Given the description of an element on the screen output the (x, y) to click on. 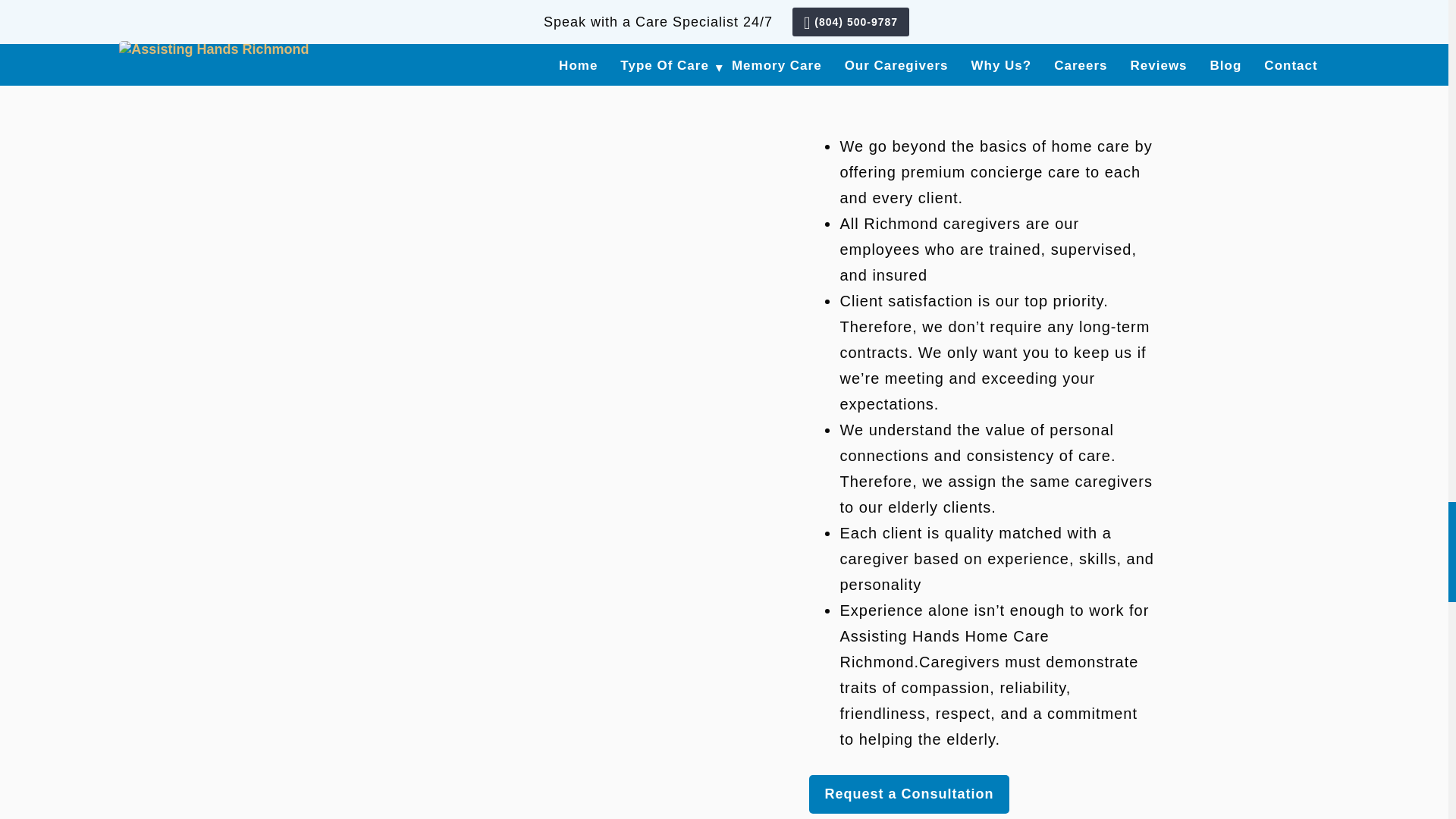
Request a Consultation (909, 794)
